Given the description of an element on the screen output the (x, y) to click on. 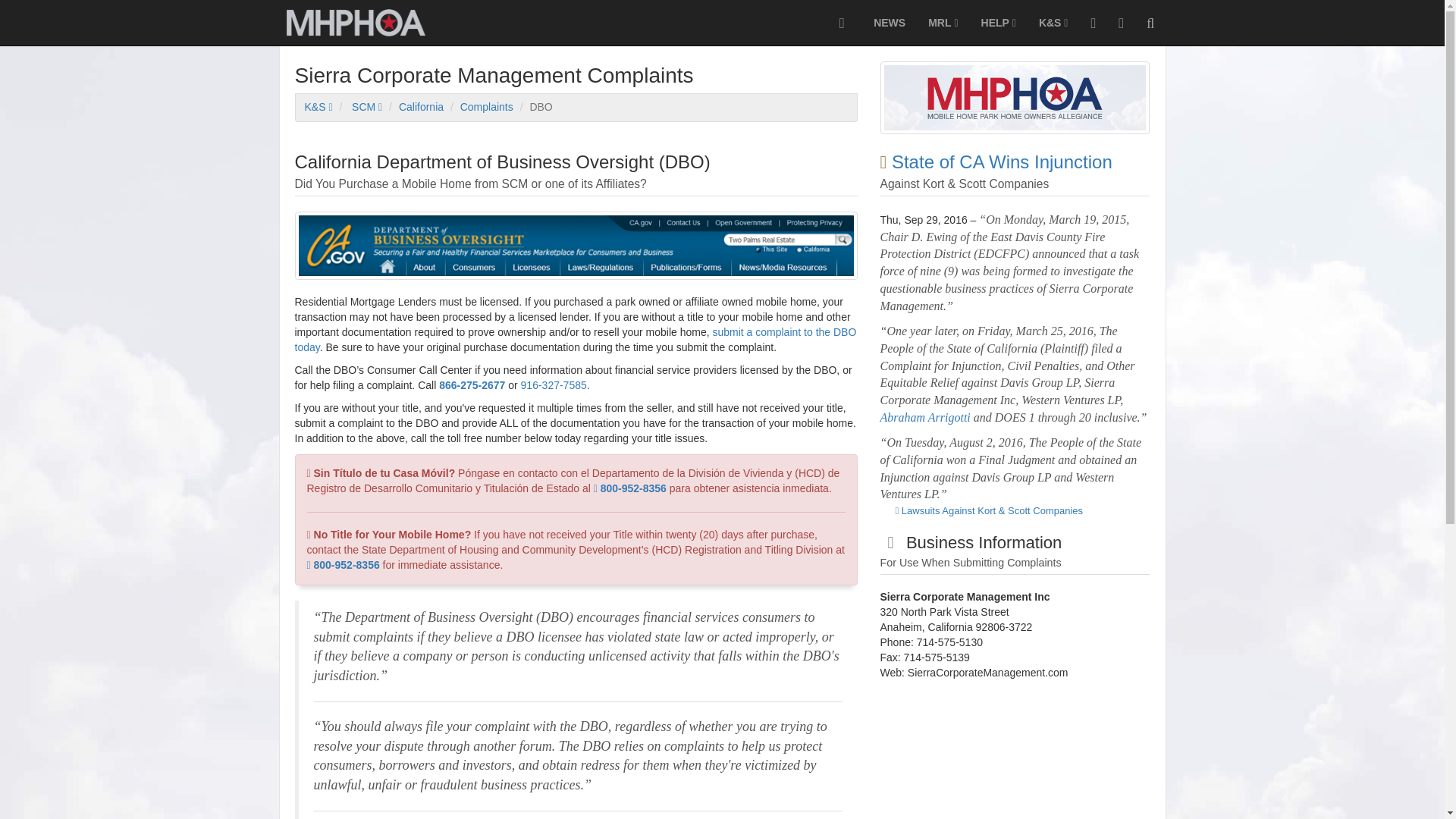
California Department of Business Oversight (534, 107)
Search (1150, 22)
NEWS (889, 22)
Sitemap (1120, 22)
MRL (943, 22)
Expand (841, 22)
Sierra Corporate Management (366, 106)
HELP (998, 22)
